Given the description of an element on the screen output the (x, y) to click on. 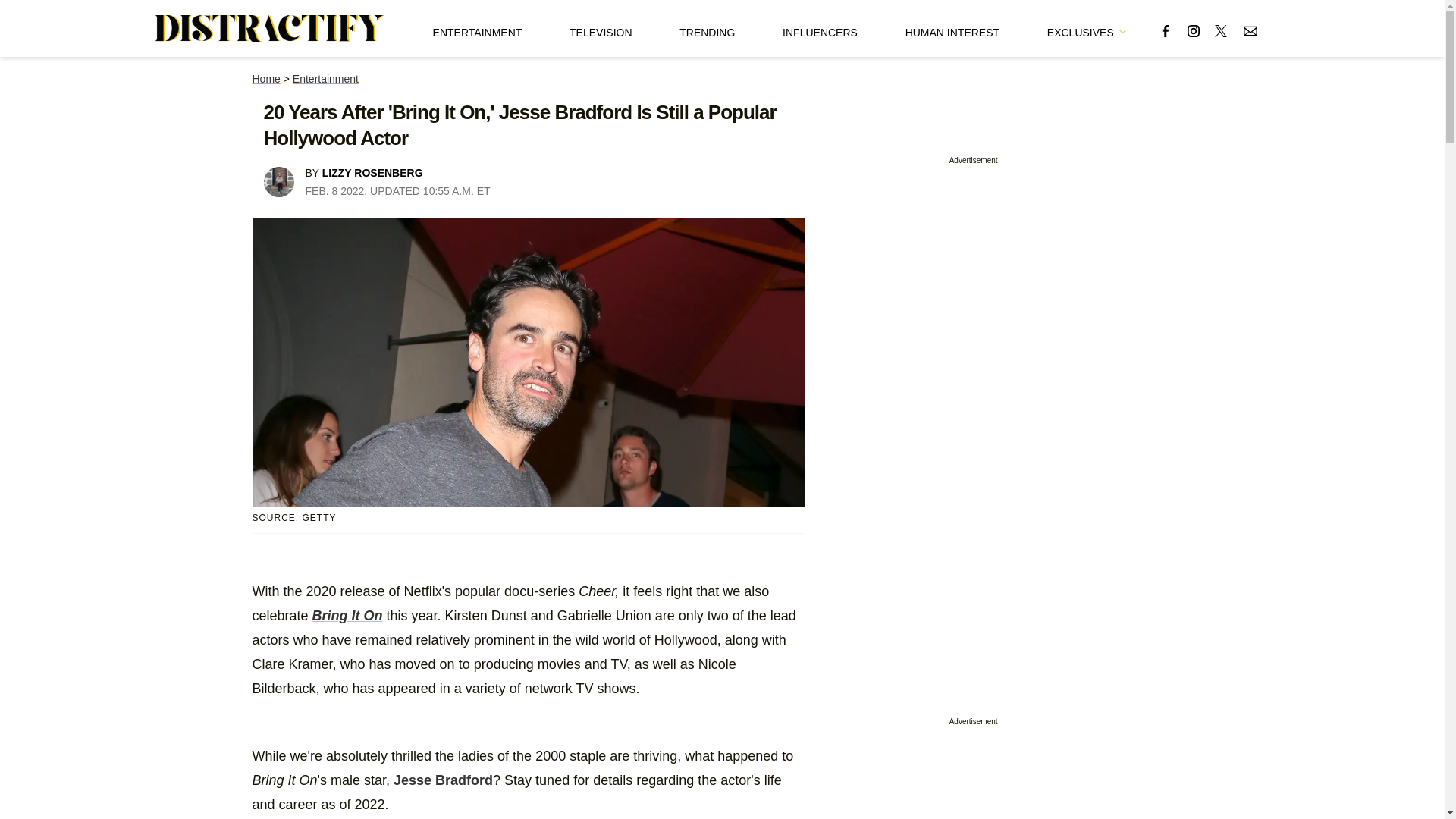
Bring It On (347, 615)
ENTERTAINMENT (477, 27)
Jesse Bradford (443, 780)
TELEVISION (600, 27)
Home (265, 78)
LIZZY ROSENBERG (372, 173)
LINK TO FACEBOOK (1165, 30)
HUMAN INTEREST (951, 27)
LINK TO EMAIL SUBSCRIBE (1250, 30)
Entertainment (325, 78)
LINK TO INSTAGRAM (1193, 30)
LINK TO X (1220, 30)
TRENDING (707, 27)
INFLUENCERS (820, 27)
